Given the description of an element on the screen output the (x, y) to click on. 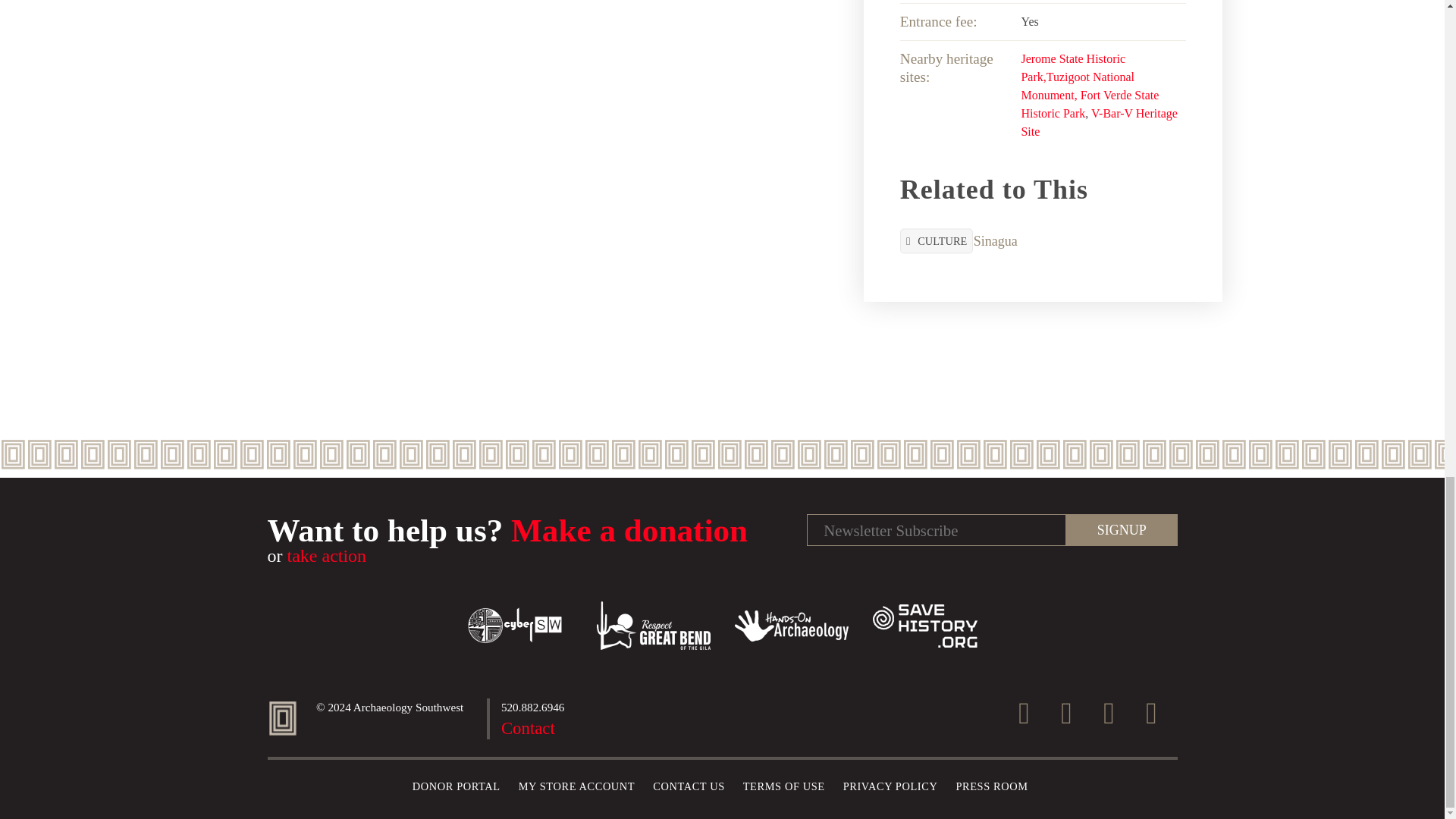
Signup (1120, 530)
